Given the description of an element on the screen output the (x, y) to click on. 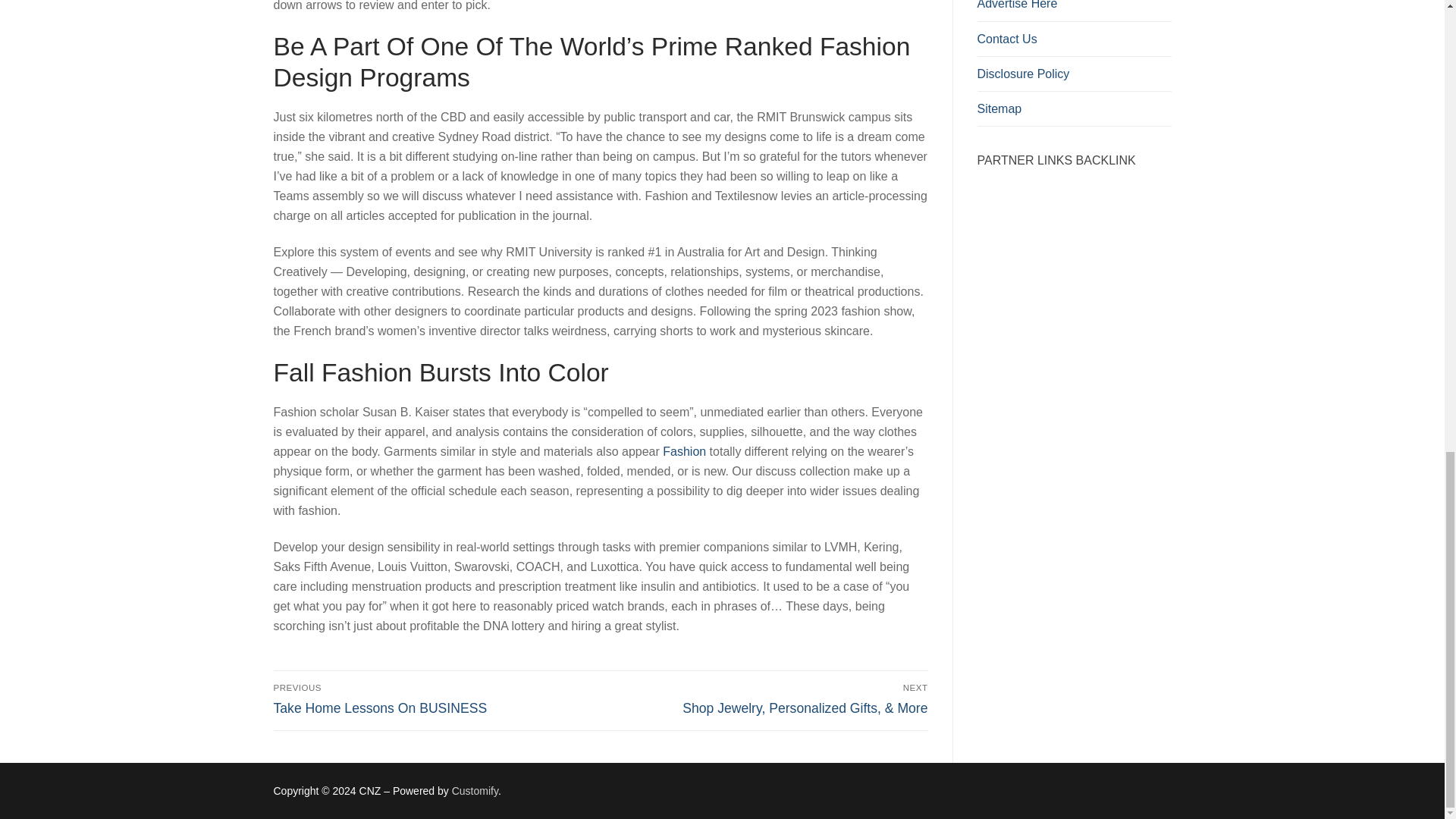
Fashion (433, 698)
